Given the description of an element on the screen output the (x, y) to click on. 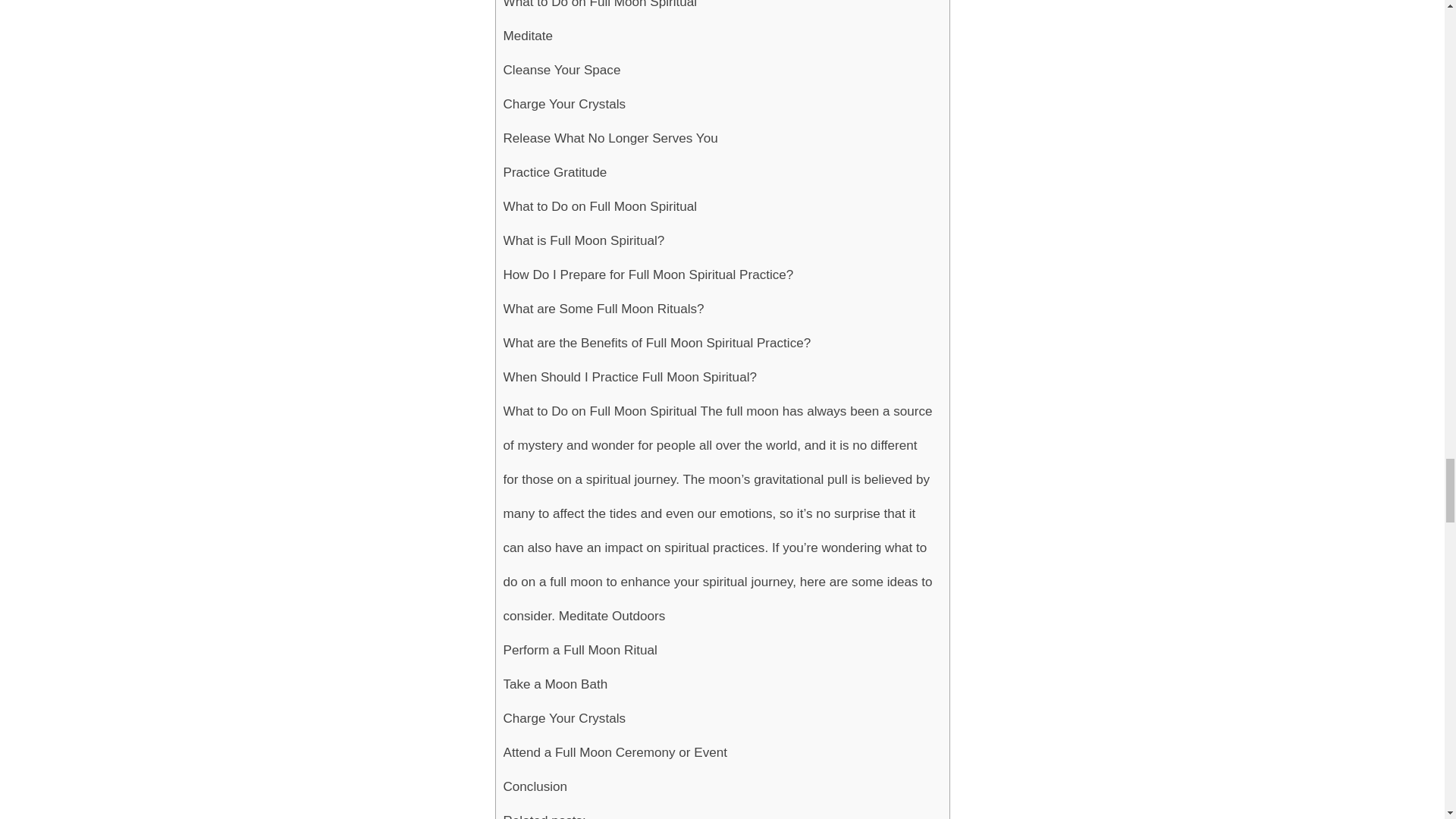
What to Do on Full Moon Spiritual (600, 206)
Related posts: (544, 811)
Release What No Longer Serves You (610, 138)
 Meditate  (528, 35)
What are the Benefits of Full Moon Spiritual Practice? (656, 342)
Practice Gratitude (555, 172)
When Should I Practice Full Moon Spiritual? (630, 376)
What is Full Moon Spiritual? (584, 240)
What are Some Full Moon Rituals? (603, 308)
Meditate (528, 35)
 Charge Your Crystals  (564, 103)
 Release What No Longer Serves You  (610, 138)
Perform a Full Moon Ritual (580, 650)
 What to Do on Full Moon Spiritual  (600, 9)
How Do I Prepare for Full Moon Spiritual Practice? (648, 274)
